Given the description of an element on the screen output the (x, y) to click on. 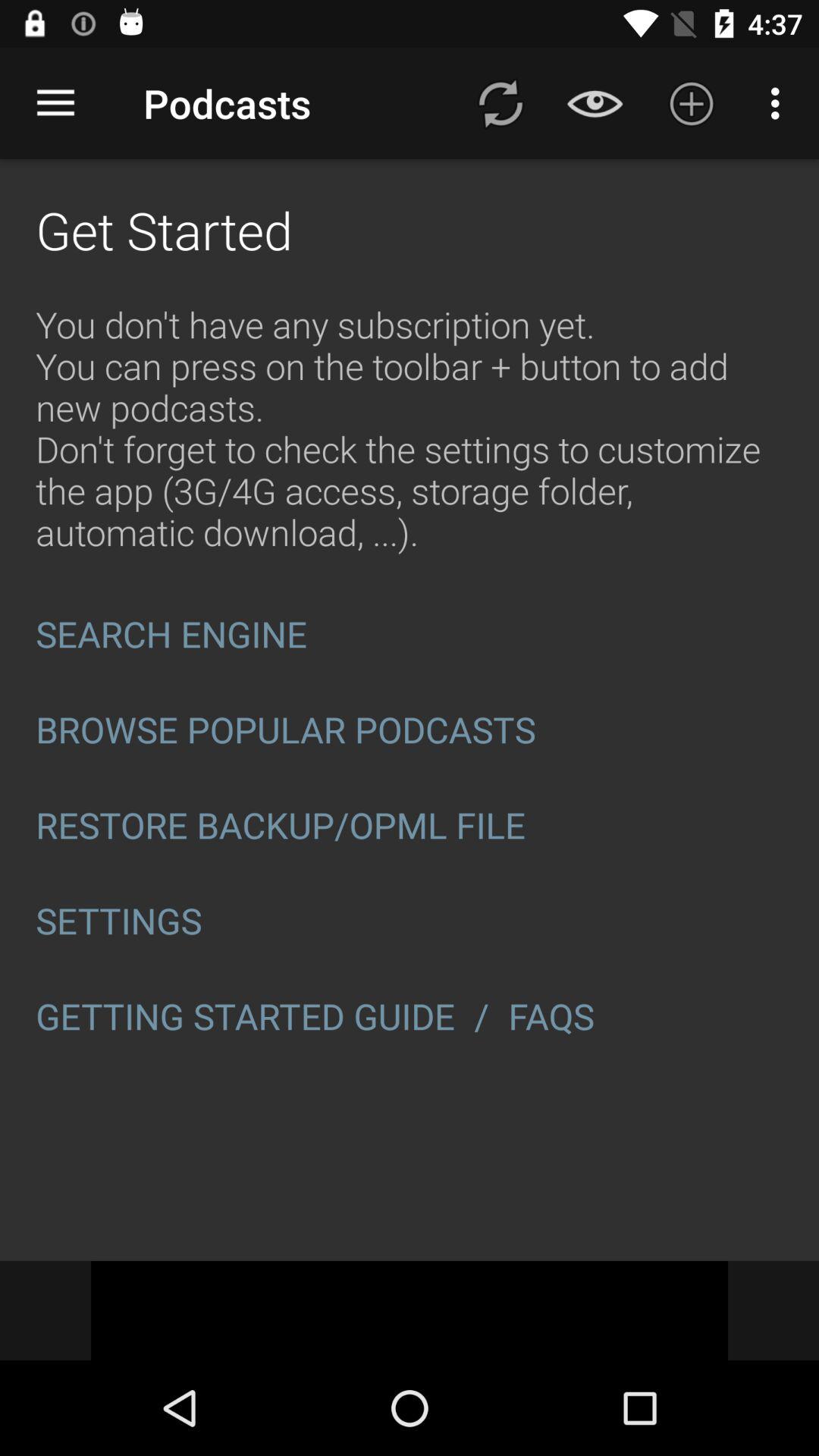
jump to the getting started guide (245, 1016)
